Given the description of an element on the screen output the (x, y) to click on. 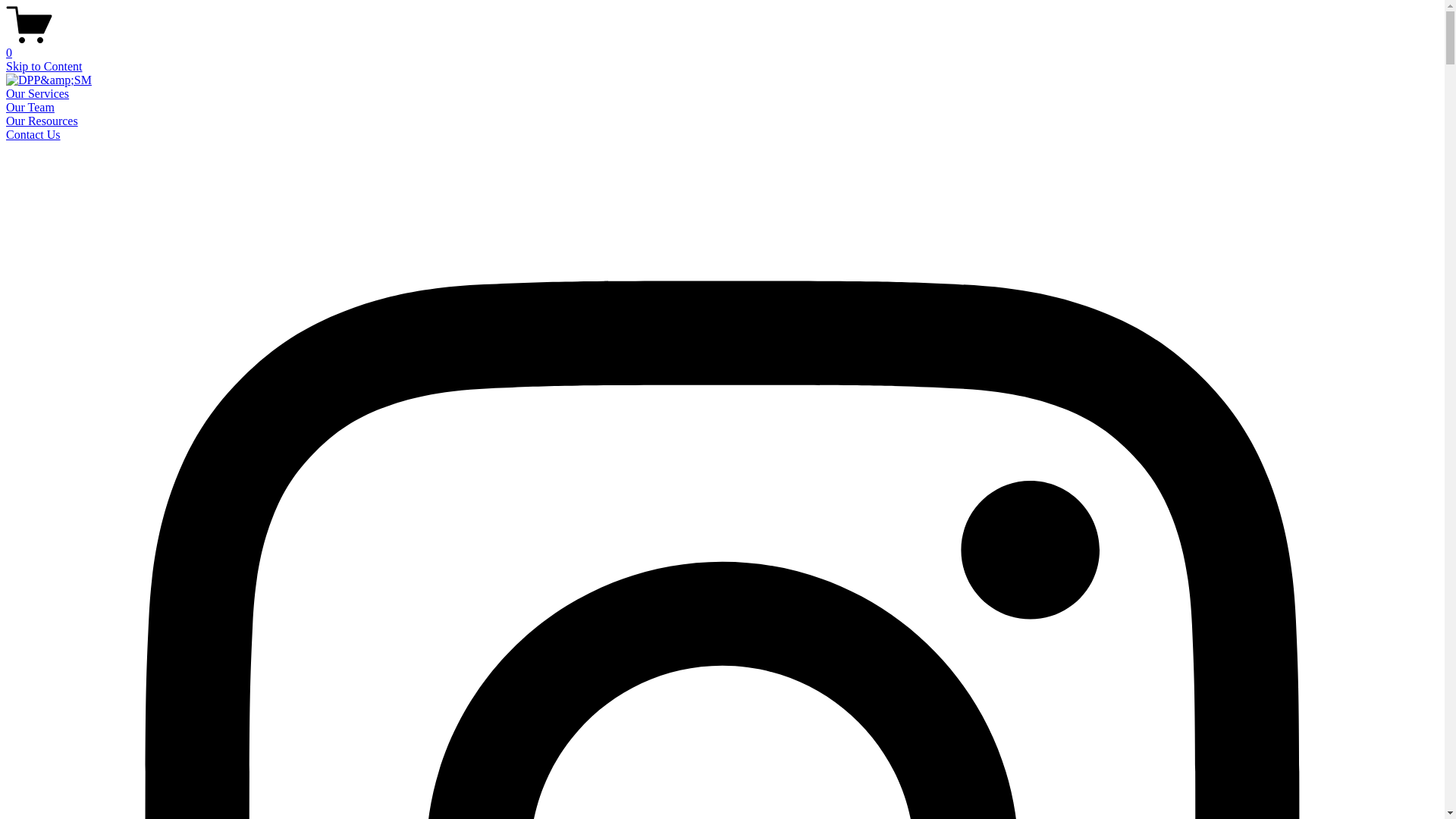
0 Element type: text (722, 45)
Our Team Element type: text (30, 106)
Contact Us Element type: text (33, 134)
Our Services Element type: text (37, 93)
Our Resources Element type: text (42, 120)
Skip to Content Element type: text (43, 65)
